Given the description of an element on the screen output the (x, y) to click on. 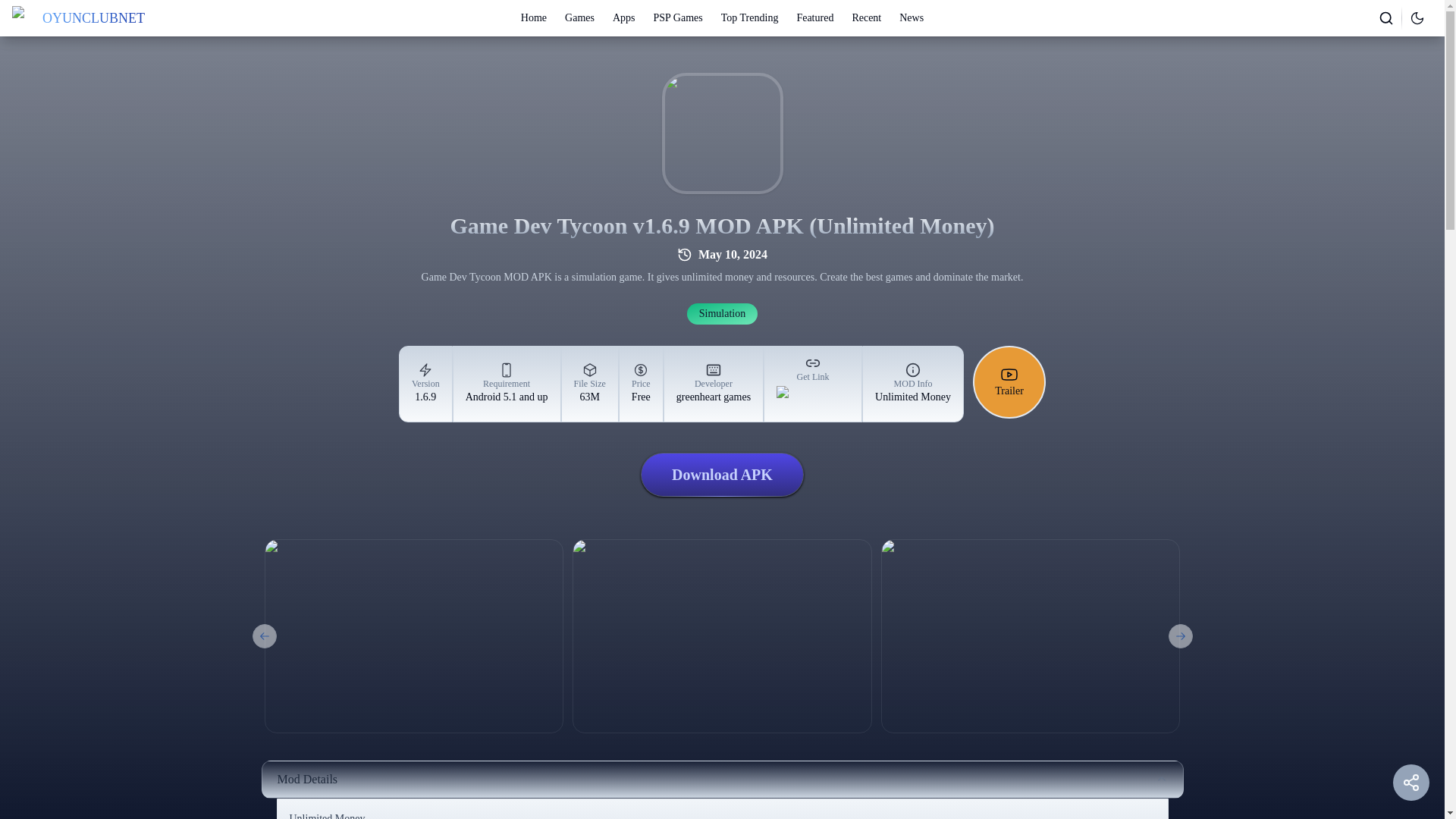
Apps (623, 17)
Download APK (714, 383)
Top Trending (721, 474)
Previous slide (749, 17)
simulation (263, 636)
Home (722, 313)
Recent (534, 17)
Simulation (865, 17)
Featured (722, 313)
Search (814, 17)
Games (1385, 17)
Next slide (579, 17)
News (1179, 636)
